Given the description of an element on the screen output the (x, y) to click on. 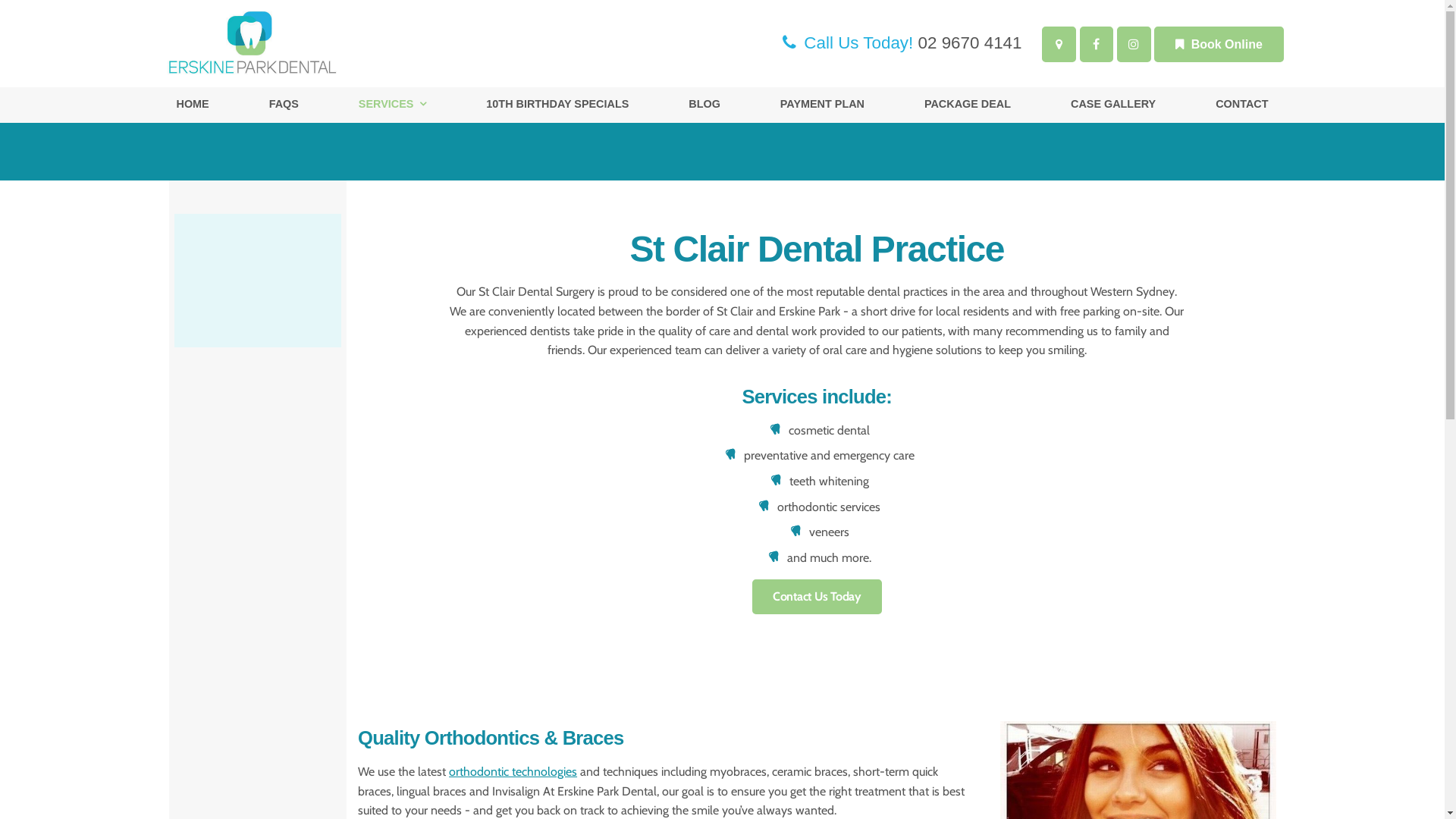
PAYMENT PLAN Element type: text (822, 105)
BLOG Element type: text (704, 105)
CASE GALLERY Element type: text (1113, 105)
10TH BIRTHDAY SPECIALS Element type: text (557, 105)
FAQS Element type: text (283, 105)
CONTACT Element type: text (1241, 105)
SERVICES Element type: text (392, 105)
Book Online Element type: text (1218, 44)
Contact Us Today Element type: text (817, 596)
orthodontic technologies Element type: text (512, 771)
PACKAGE DEAL Element type: text (967, 105)
HOME Element type: text (192, 105)
